Given the description of an element on the screen output the (x, y) to click on. 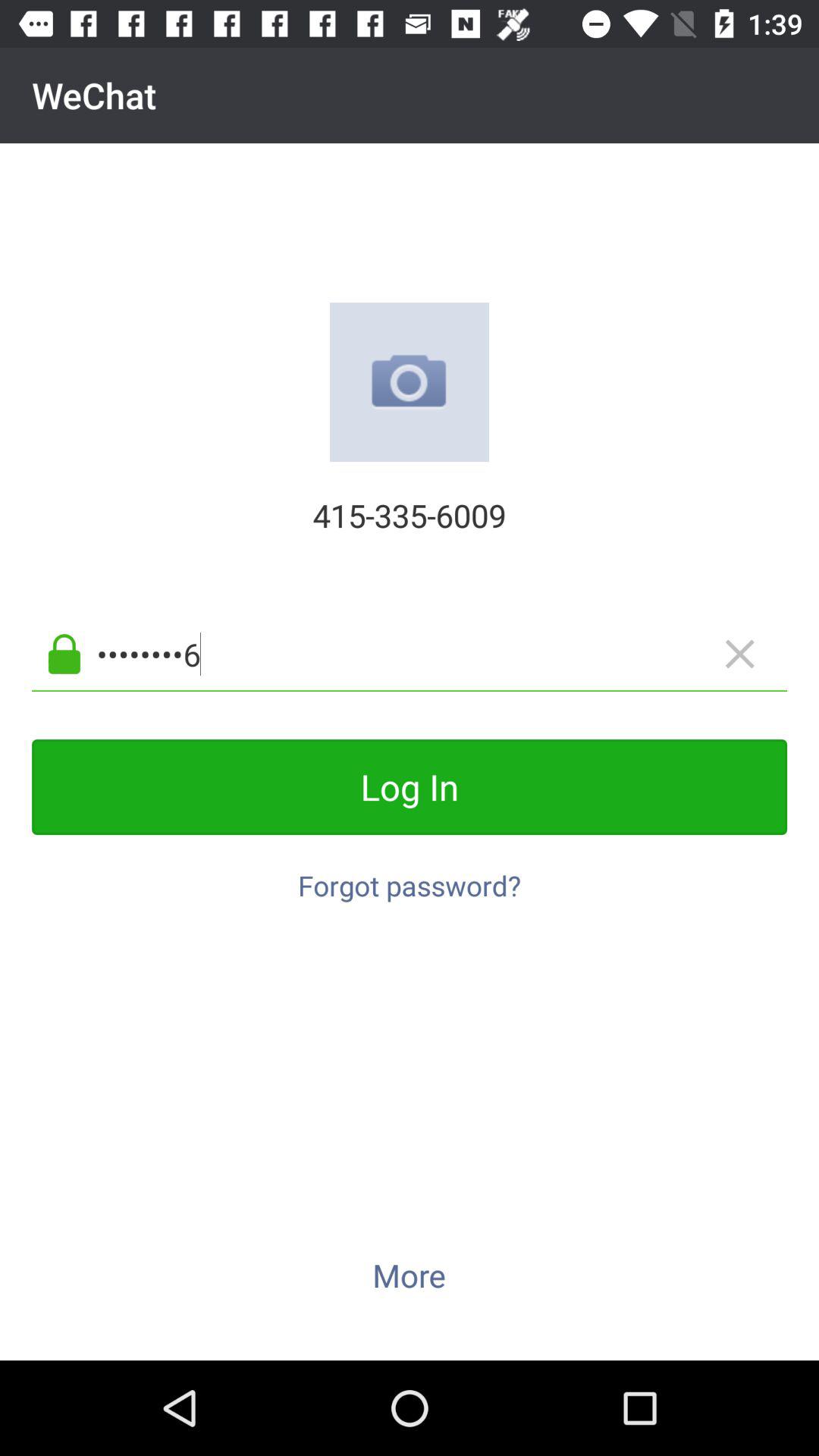
scroll until more item (408, 1274)
